Given the description of an element on the screen output the (x, y) to click on. 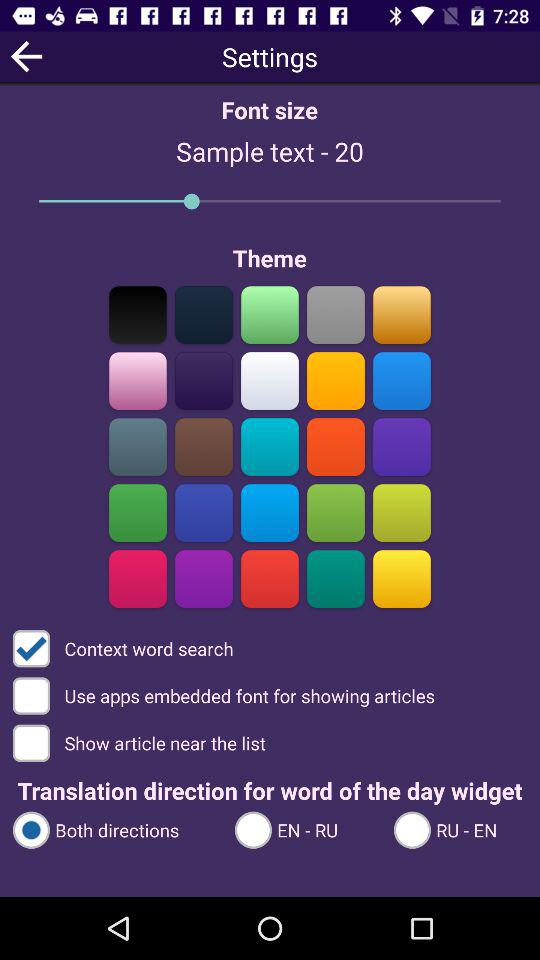
select turquoise theme (335, 578)
